Given the description of an element on the screen output the (x, y) to click on. 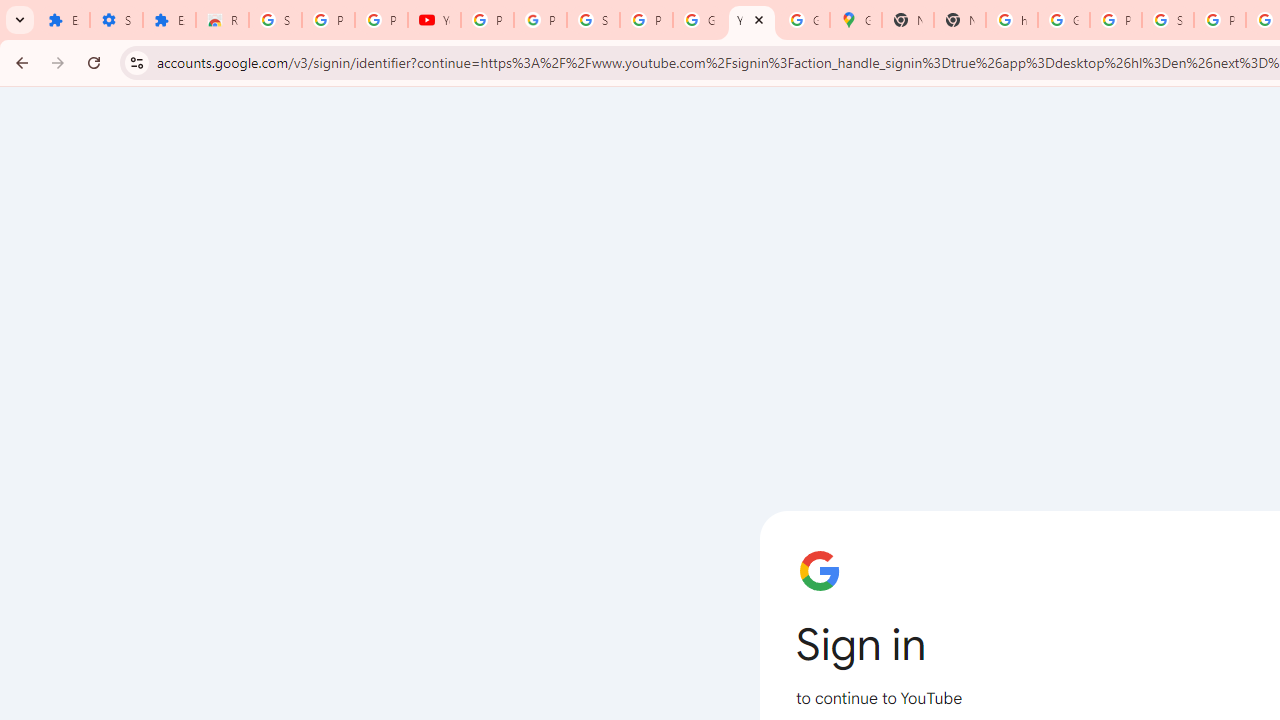
New Tab (959, 20)
New Tab (907, 20)
Google Maps (855, 20)
Extensions (169, 20)
Sign in - Google Accounts (593, 20)
